Given the description of an element on the screen output the (x, y) to click on. 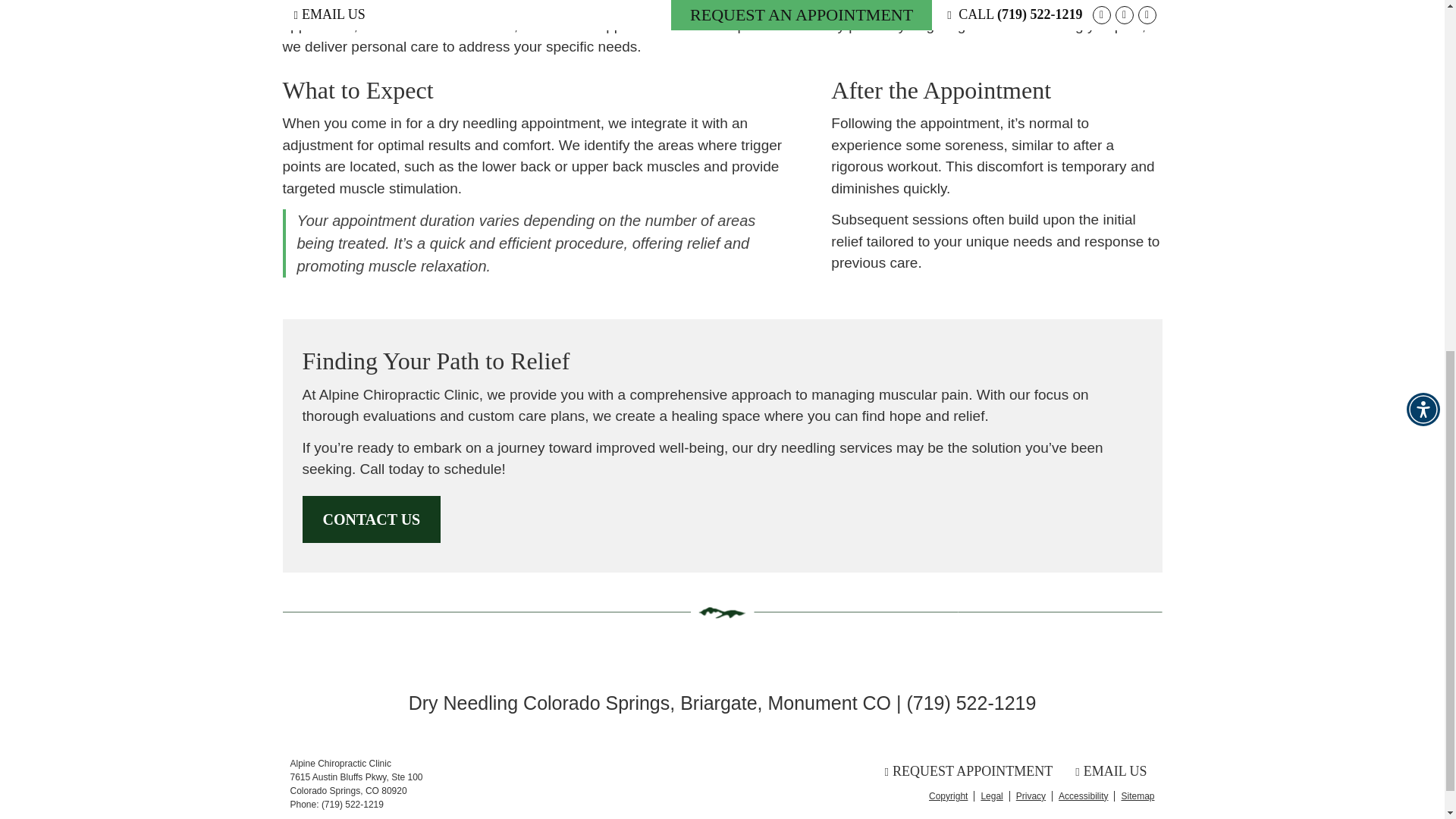
Contact (1110, 770)
Footer Links (1038, 795)
CONTACT US (371, 519)
